Given the description of an element on the screen output the (x, y) to click on. 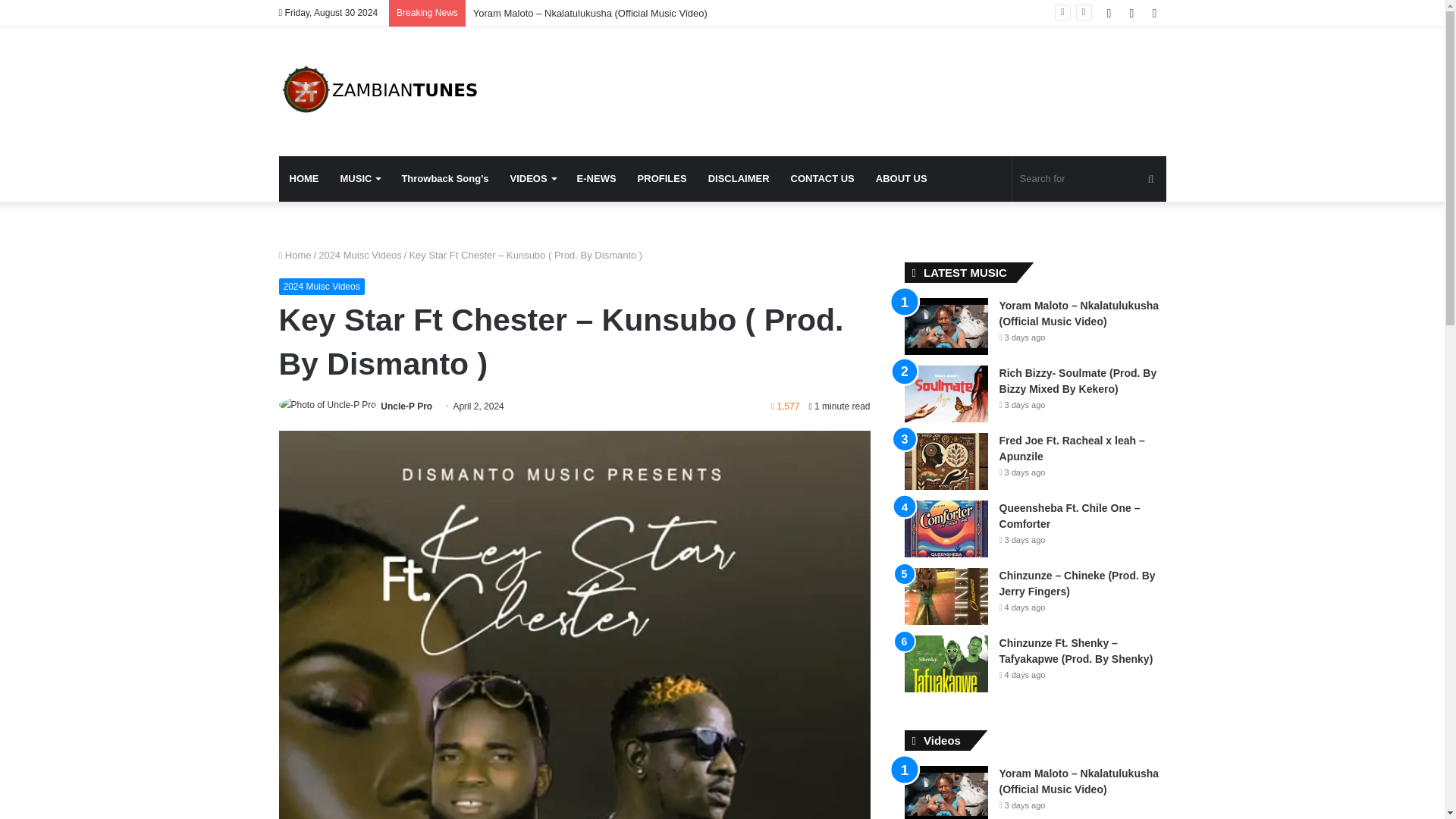
CONTACT US (822, 178)
HOME (304, 178)
MUSIC (359, 178)
Zambian Tunes (381, 91)
2024 Muisc Videos (322, 286)
PROFILES (662, 178)
E-NEWS (596, 178)
VIDEOS (532, 178)
2024 Muisc Videos (359, 255)
DISCLAIMER (738, 178)
